Given the description of an element on the screen output the (x, y) to click on. 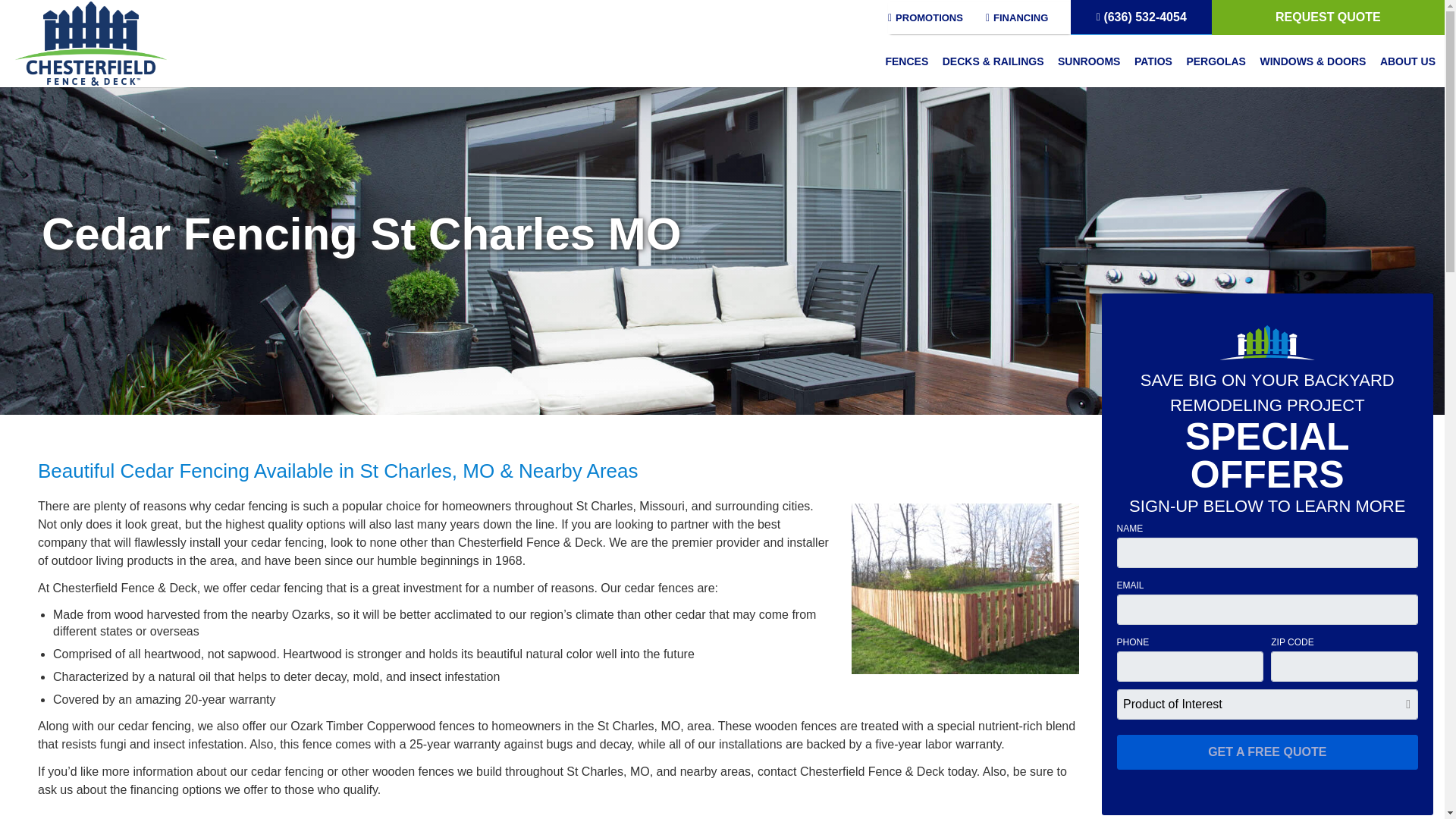
Get a Free Quote (1267, 751)
Chesterfield Fence and Deck (90, 42)
Cedar Fencing St Charles MO (964, 588)
